Given the description of an element on the screen output the (x, y) to click on. 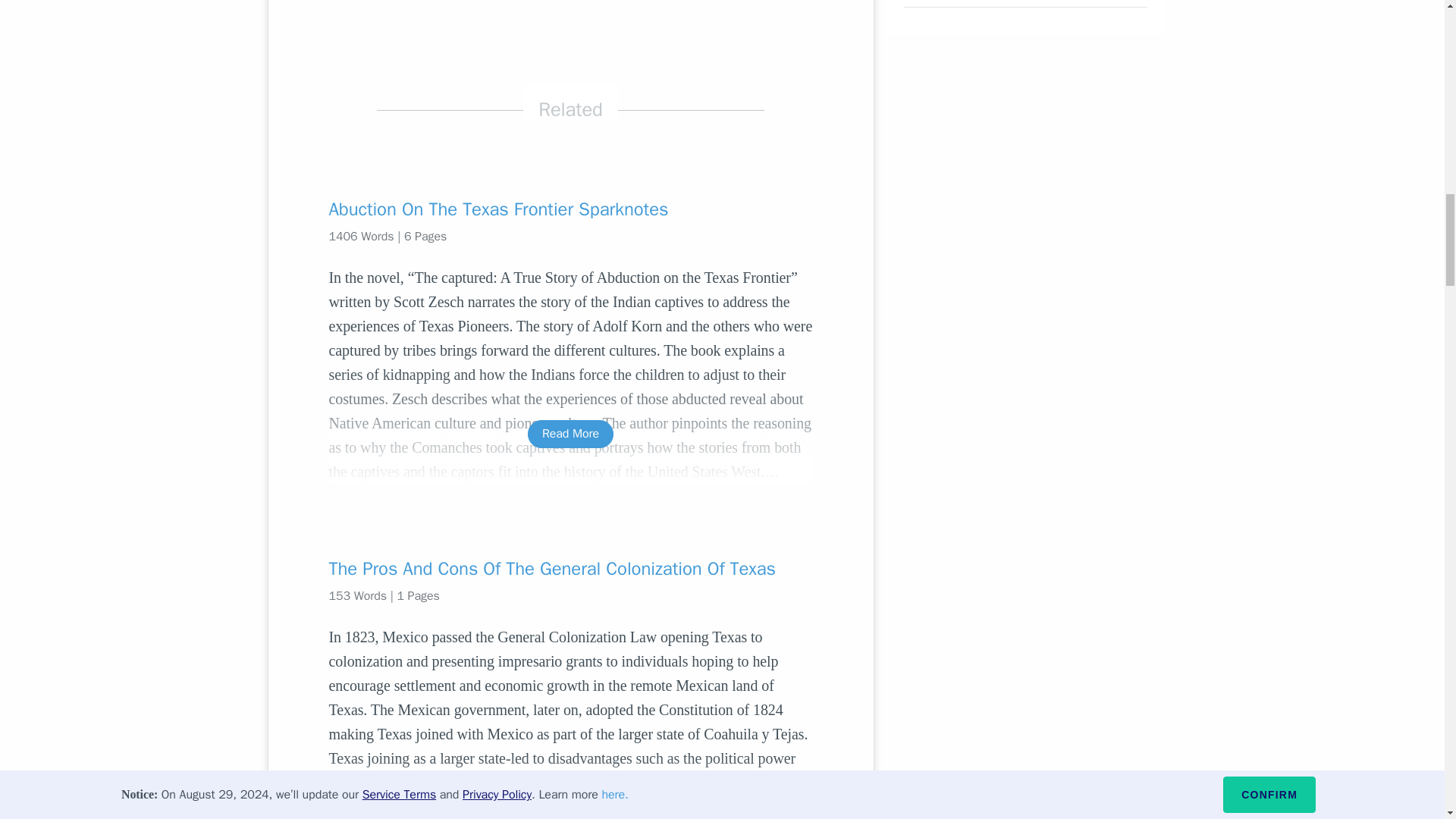
Read More (569, 433)
Read More (569, 811)
The Pros And Cons Of The General Colonization Of Texas (570, 568)
Abuction On The Texas Frontier Sparknotes (570, 209)
